Given the description of an element on the screen output the (x, y) to click on. 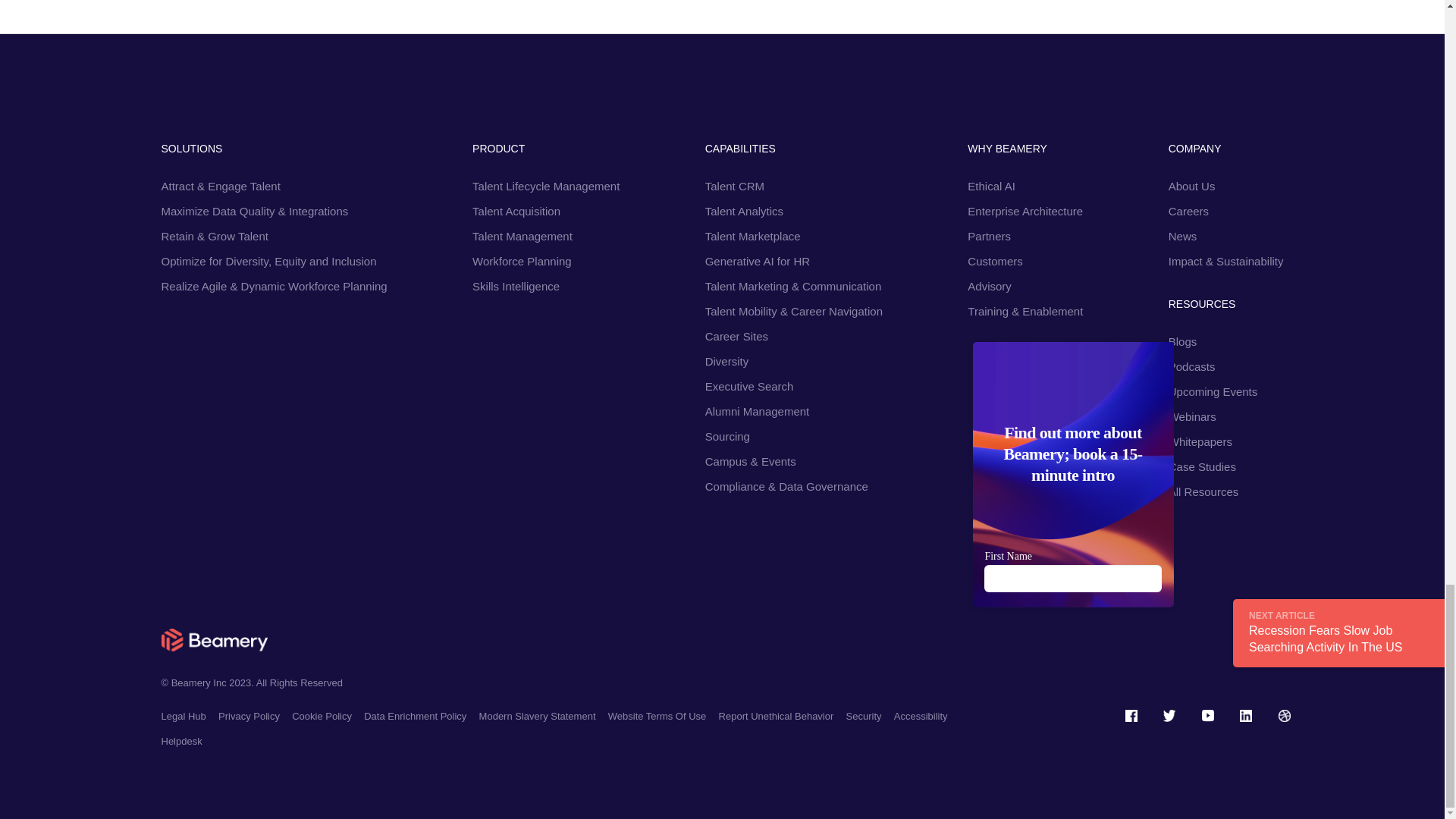
Solutions: Optimize for Diversity, Equity and Inclusion (267, 259)
Product: Talent Lifecycle Management (545, 185)
Product: Talent Acquisition (515, 210)
